Given the description of an element on the screen output the (x, y) to click on. 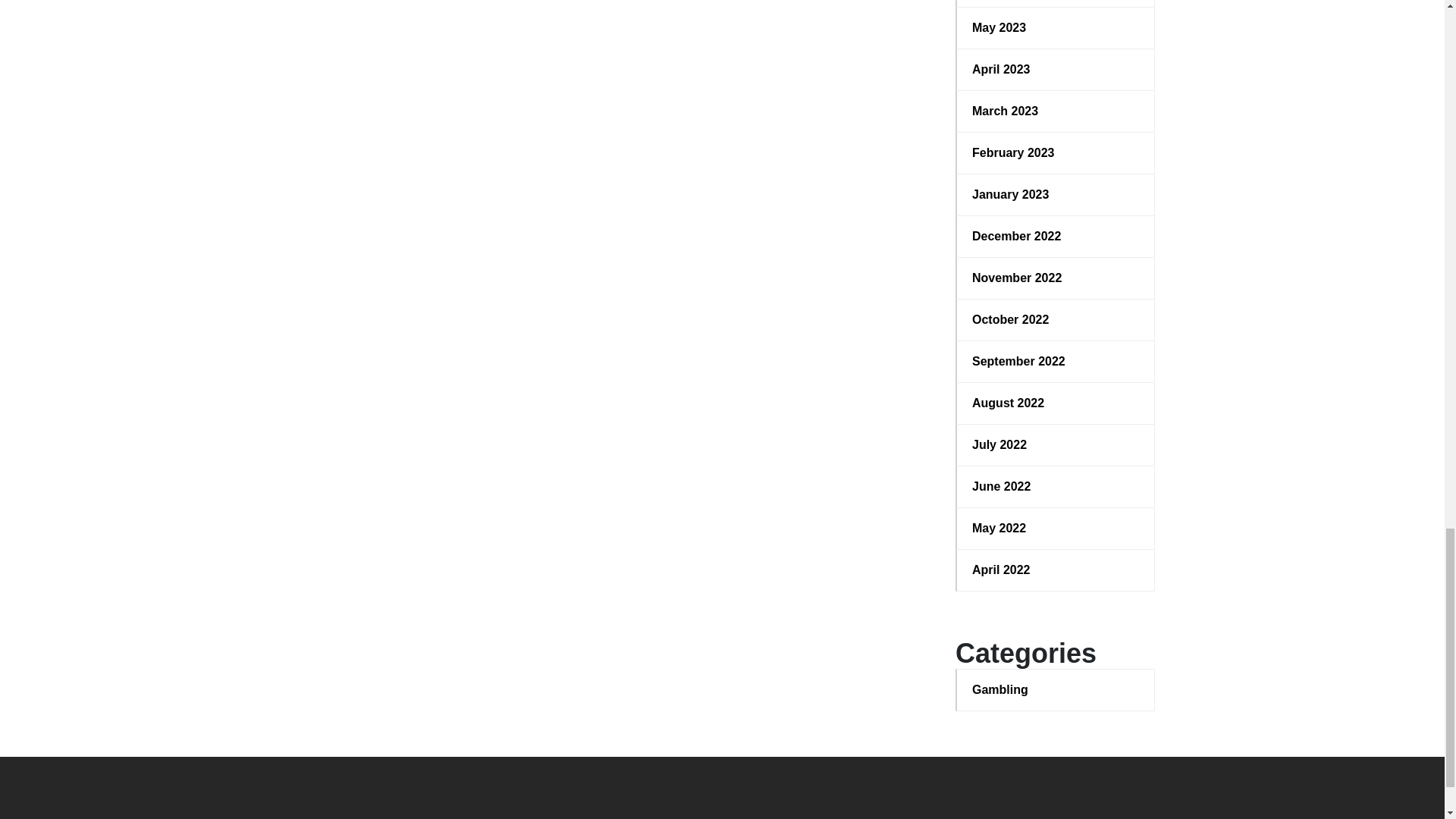
August 2022 (1055, 402)
February 2023 (1055, 153)
January 2023 (1055, 194)
November 2022 (1055, 278)
October 2022 (1055, 320)
December 2022 (1055, 236)
April 2023 (1055, 69)
September 2022 (1055, 361)
May 2023 (1055, 27)
March 2023 (1055, 111)
